Given the description of an element on the screen output the (x, y) to click on. 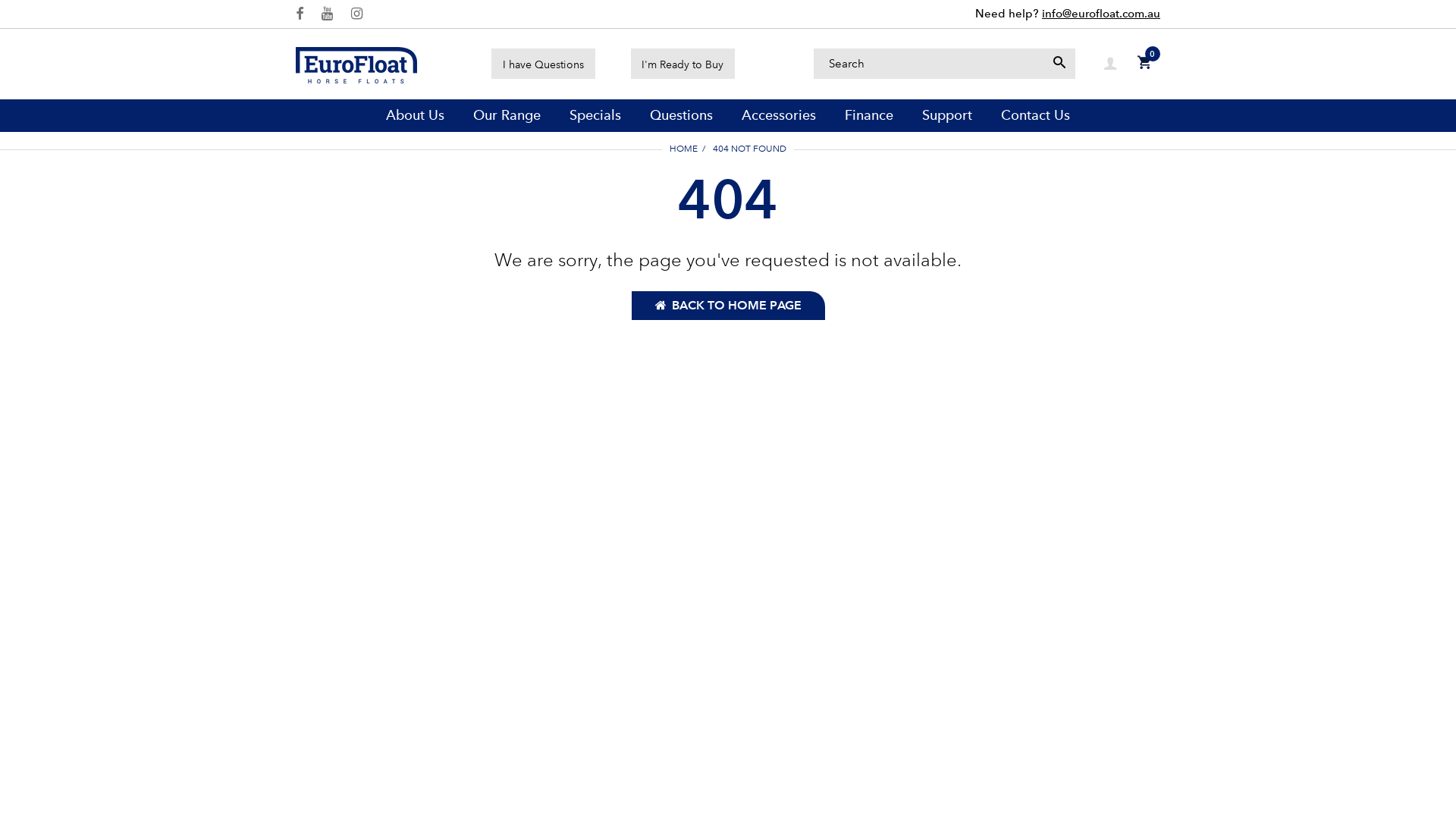
BACK TO HOME PAGE Element type: text (727, 305)
I'm Ready to Buy Element type: text (682, 63)
I have Questions Element type: text (543, 63)
Questions Element type: text (680, 115)
Eurofloat Element type: hover (356, 62)
YouTube Element type: hover (326, 14)
Our Range Element type: text (506, 115)
About Us Element type: text (414, 115)
Support Element type: text (947, 115)
Instagram Element type: hover (356, 14)
Sign in Element type: hover (1109, 64)
Specials Element type: text (595, 115)
HOME Element type: text (683, 148)
0 Element type: text (1143, 64)
Finance Element type: text (868, 115)
Facebook Element type: hover (299, 14)
Need help? info@eurofloat.com.au Element type: text (1067, 13)
Contact Us Element type: text (1035, 115)
Accessories Element type: text (778, 115)
